Given the description of an element on the screen output the (x, y) to click on. 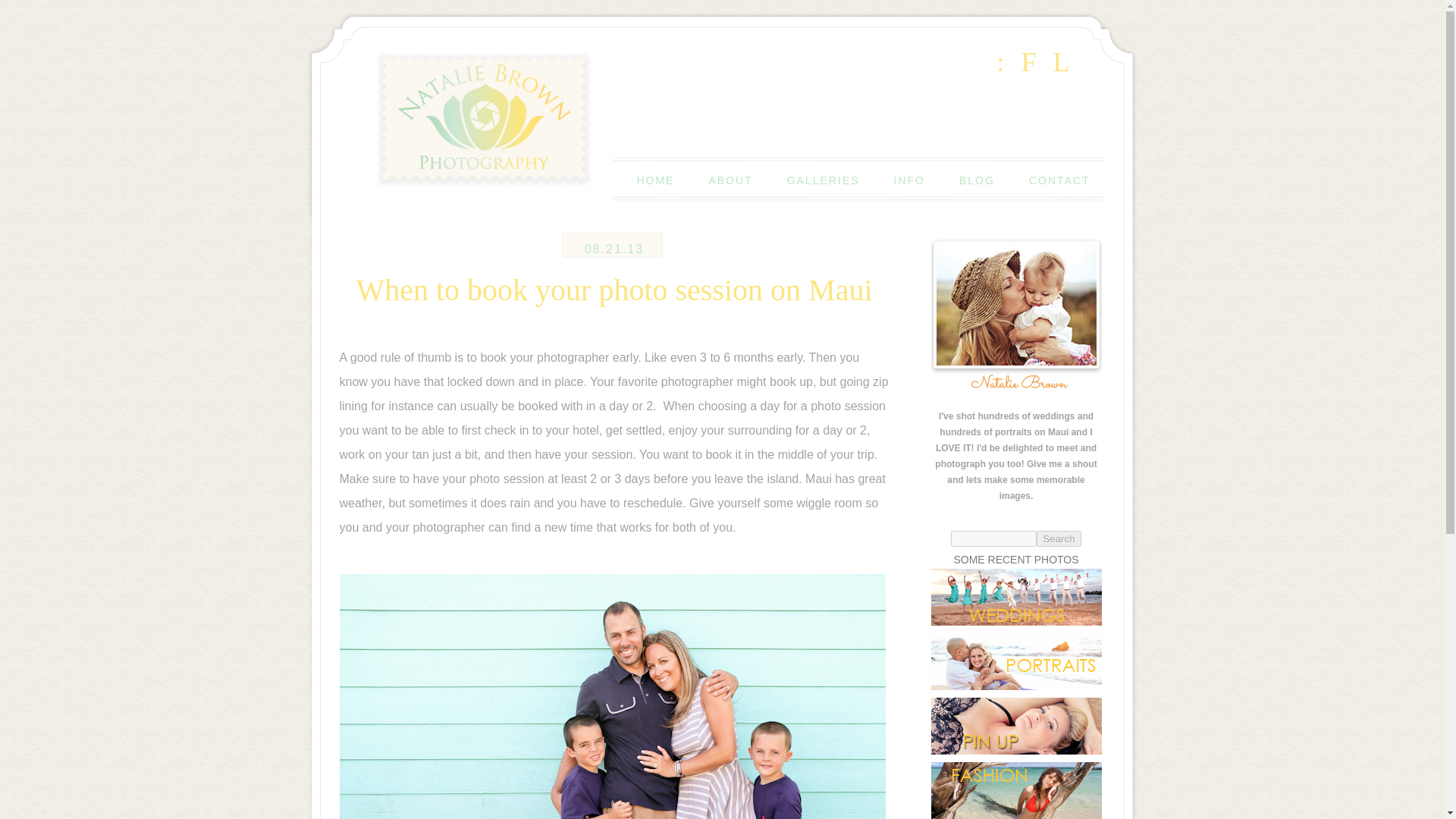
Search (1058, 538)
Photography portfolio (823, 180)
GALLERIES (823, 180)
L (1061, 62)
Natalie Brown Photography (523, 180)
Home (655, 180)
: (1000, 62)
INFO (908, 180)
Search (1058, 538)
BLOG (976, 180)
Maui photography information (908, 180)
F (1028, 62)
HOME (655, 180)
Maui Photography Blog (976, 180)
Contact Natalie Brown (1059, 180)
